Given the description of an element on the screen output the (x, y) to click on. 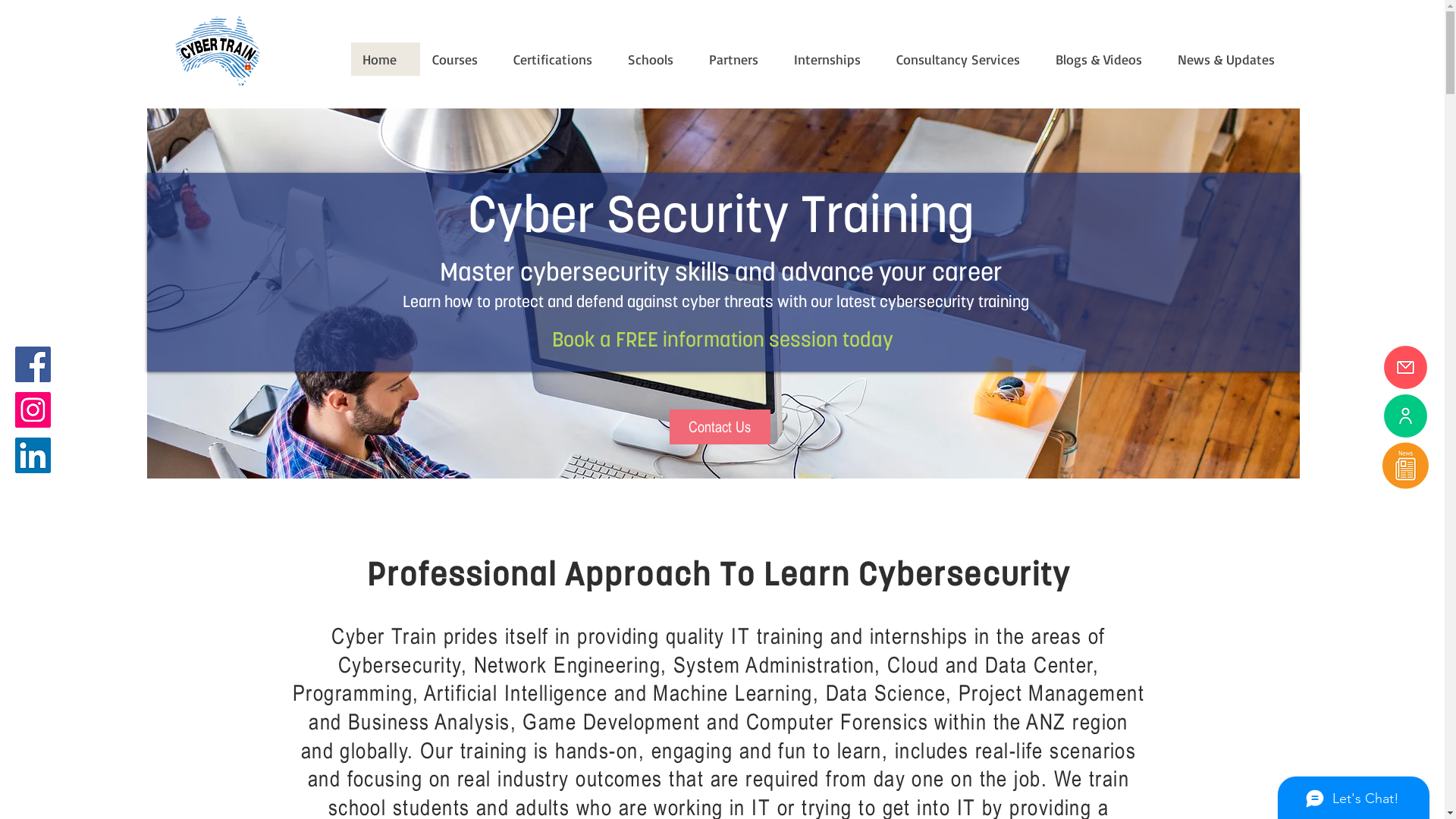
Contact Us Element type: text (718, 426)
Home Element type: text (384, 58)
News & Updates Element type: text (1230, 58)
Blogs & Videos Element type: text (1104, 58)
Schools Element type: text (655, 58)
Courses Element type: text (460, 58)
Consultancy Services Element type: text (963, 58)
Site Search Element type: hover (1184, 29)
Certifications Element type: text (557, 58)
Internships Element type: text (832, 58)
Partners Element type: text (738, 58)
